Given the description of an element on the screen output the (x, y) to click on. 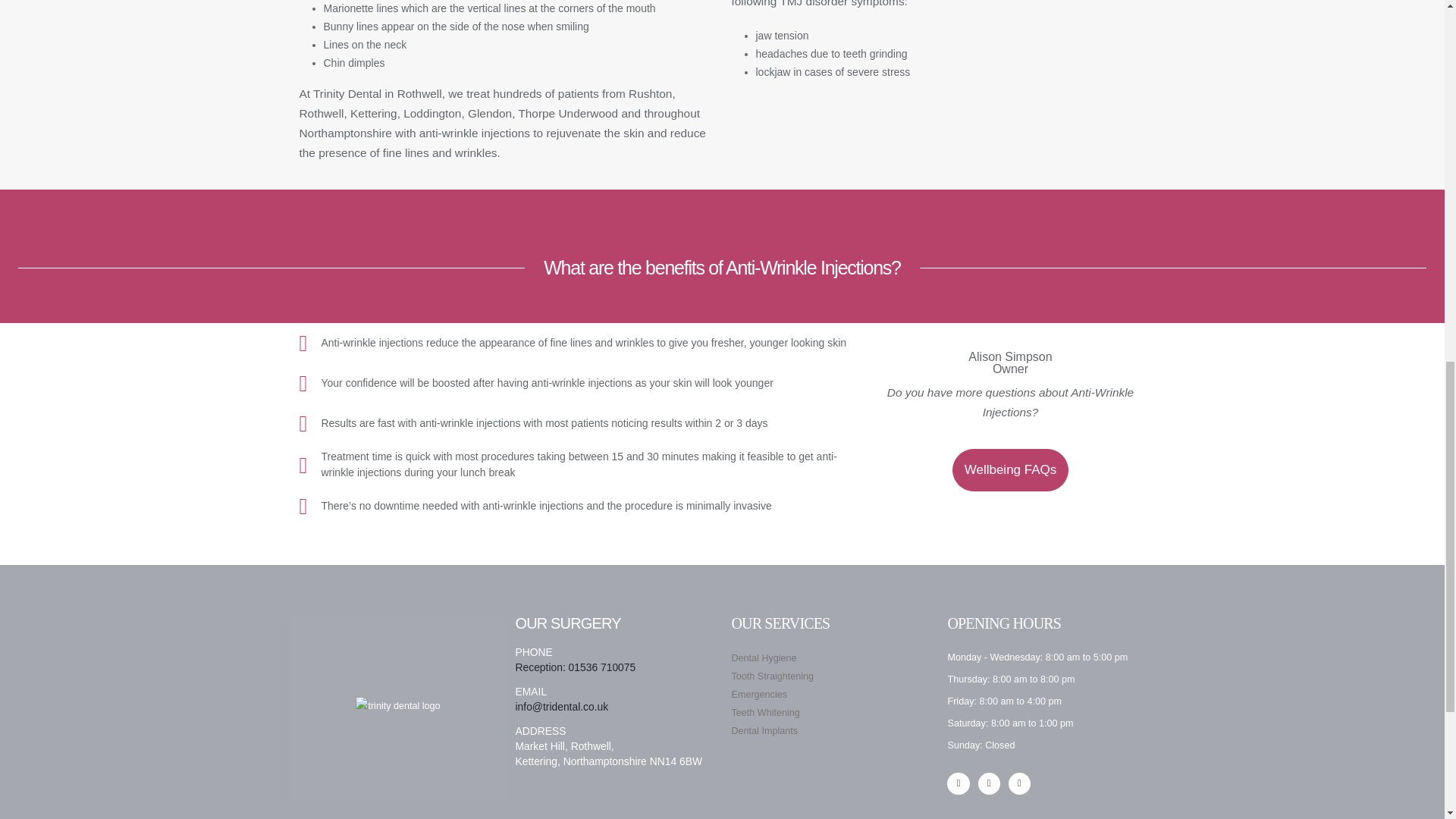
Twitter (989, 783)
Alison Simpson (1009, 362)
Facebook (958, 783)
Instagram (1019, 783)
logo-white (397, 705)
